Given the description of an element on the screen output the (x, y) to click on. 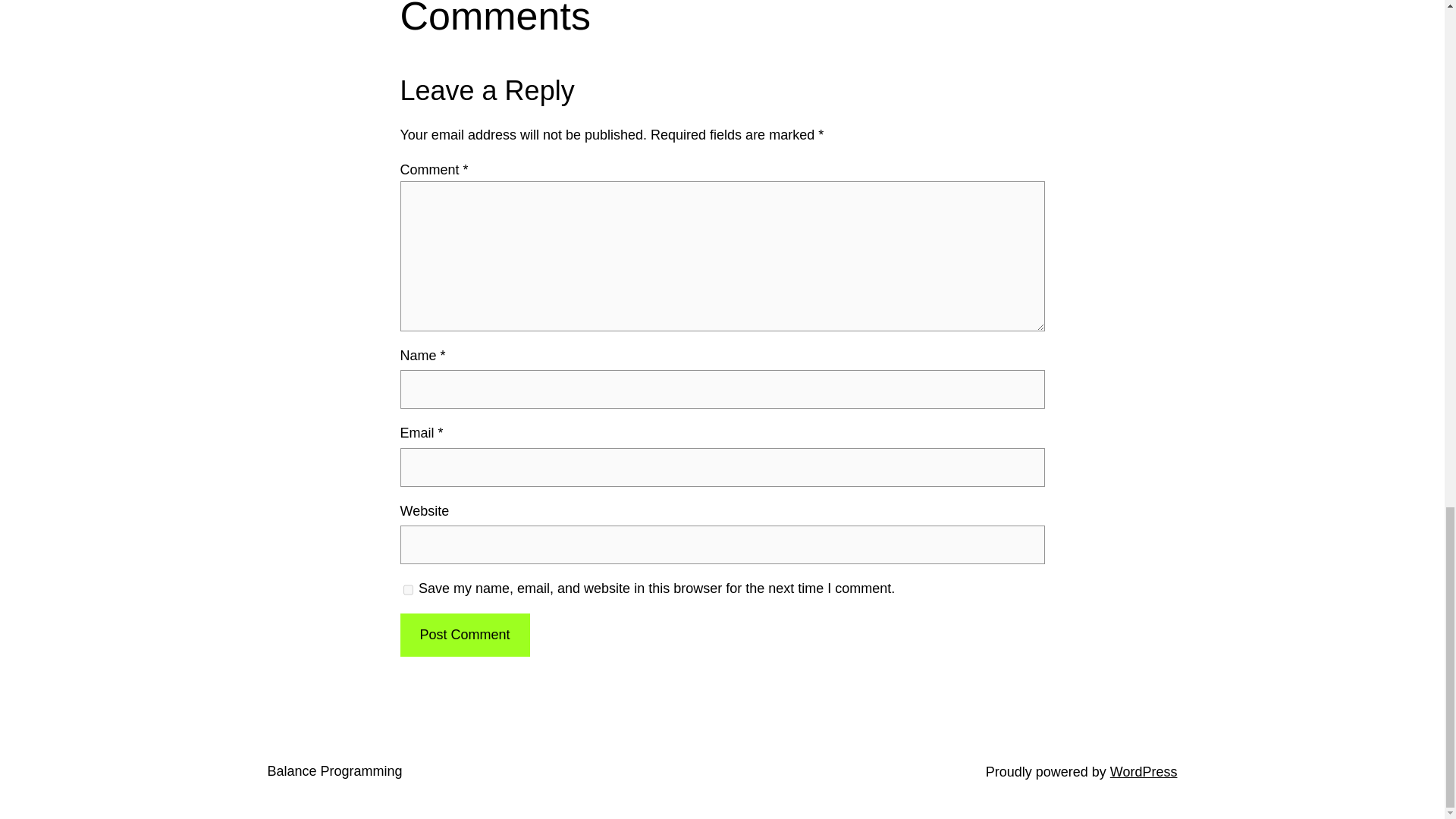
Post Comment (464, 634)
Post Comment (464, 634)
yes (408, 589)
WordPress (1143, 771)
Balance Programming (333, 770)
